Given the description of an element on the screen output the (x, y) to click on. 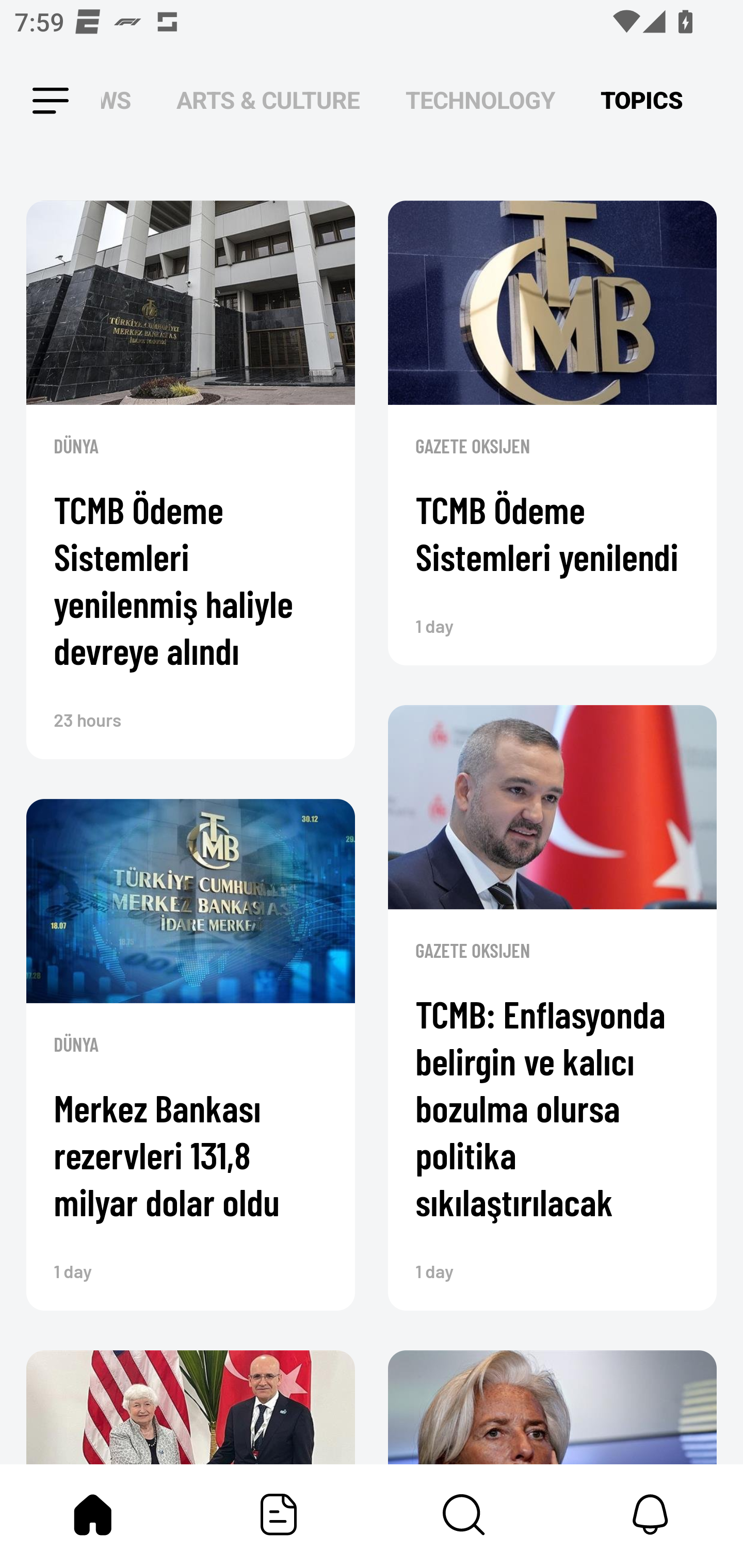
NEWS (121, 100)
ARTS & CULTURE (268, 100)
TECHNOLOGY (480, 100)
Featured (278, 1514)
Content Store (464, 1514)
Notifications (650, 1514)
